Given the description of an element on the screen output the (x, y) to click on. 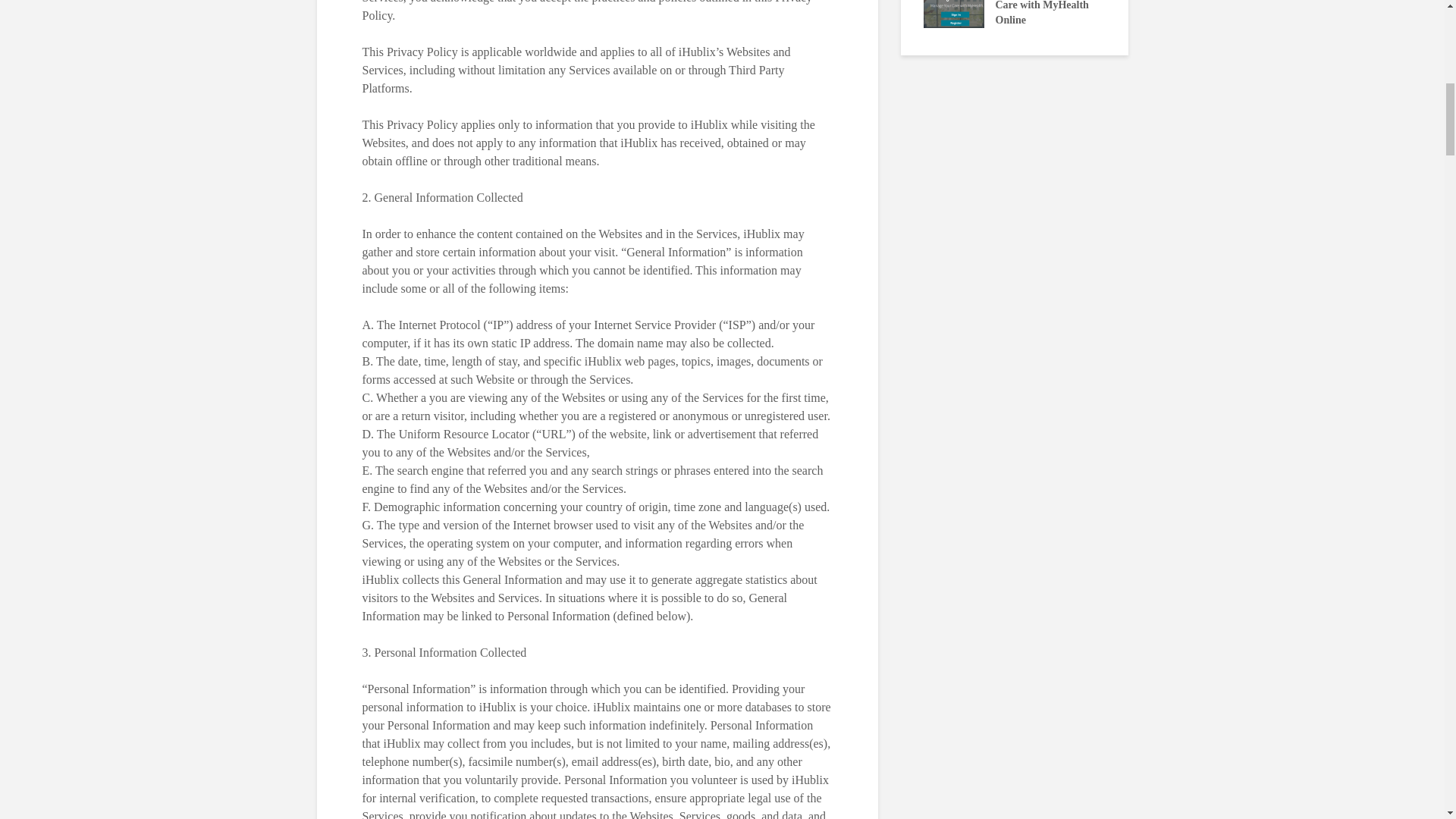
Download MyHealthONE App for FREE (1317, 4)
Download FollowMyHealth App for FREE (679, 12)
Download MyHealthONE App for FREE (866, 12)
Download FollowMyHealth App for FREE (589, 4)
Download MyHealthONE App for FREE (771, 4)
Download FollowMyHealth App for FREE (1135, 4)
